Given the description of an element on the screen output the (x, y) to click on. 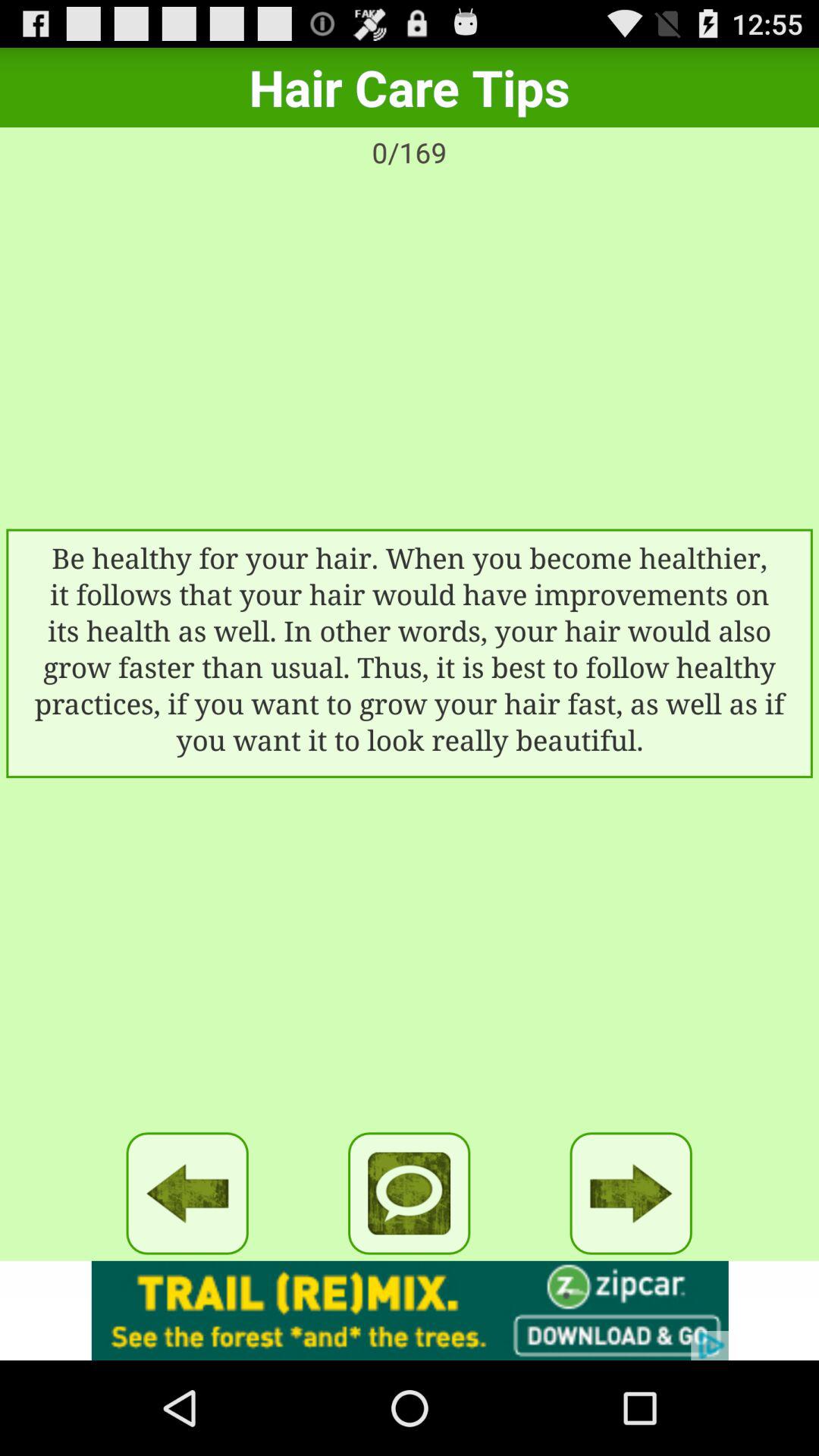
go to advert (409, 1310)
